Given the description of an element on the screen output the (x, y) to click on. 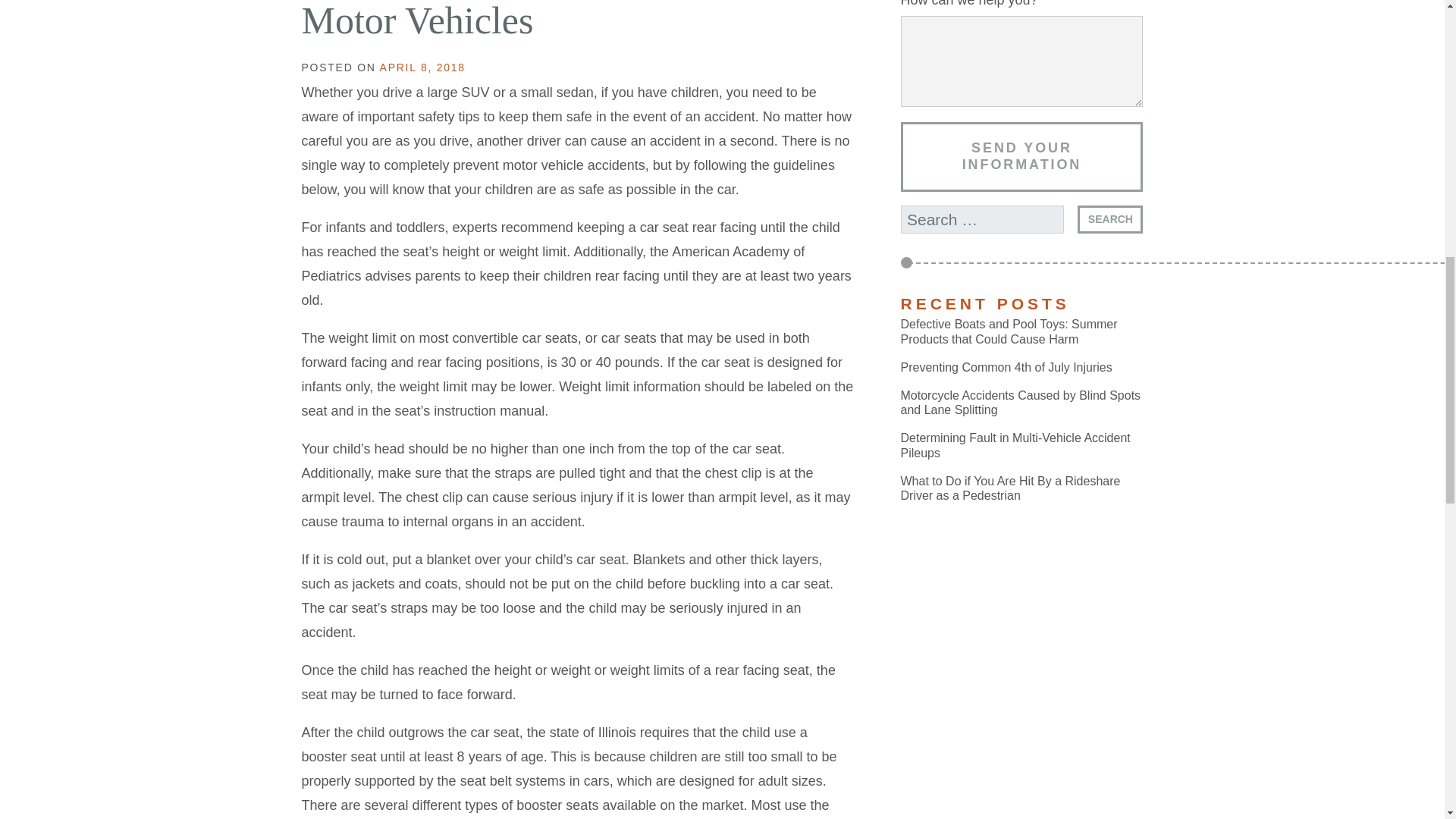
Search (1109, 219)
Search (1109, 219)
Search for: (982, 219)
